Given the description of an element on the screen output the (x, y) to click on. 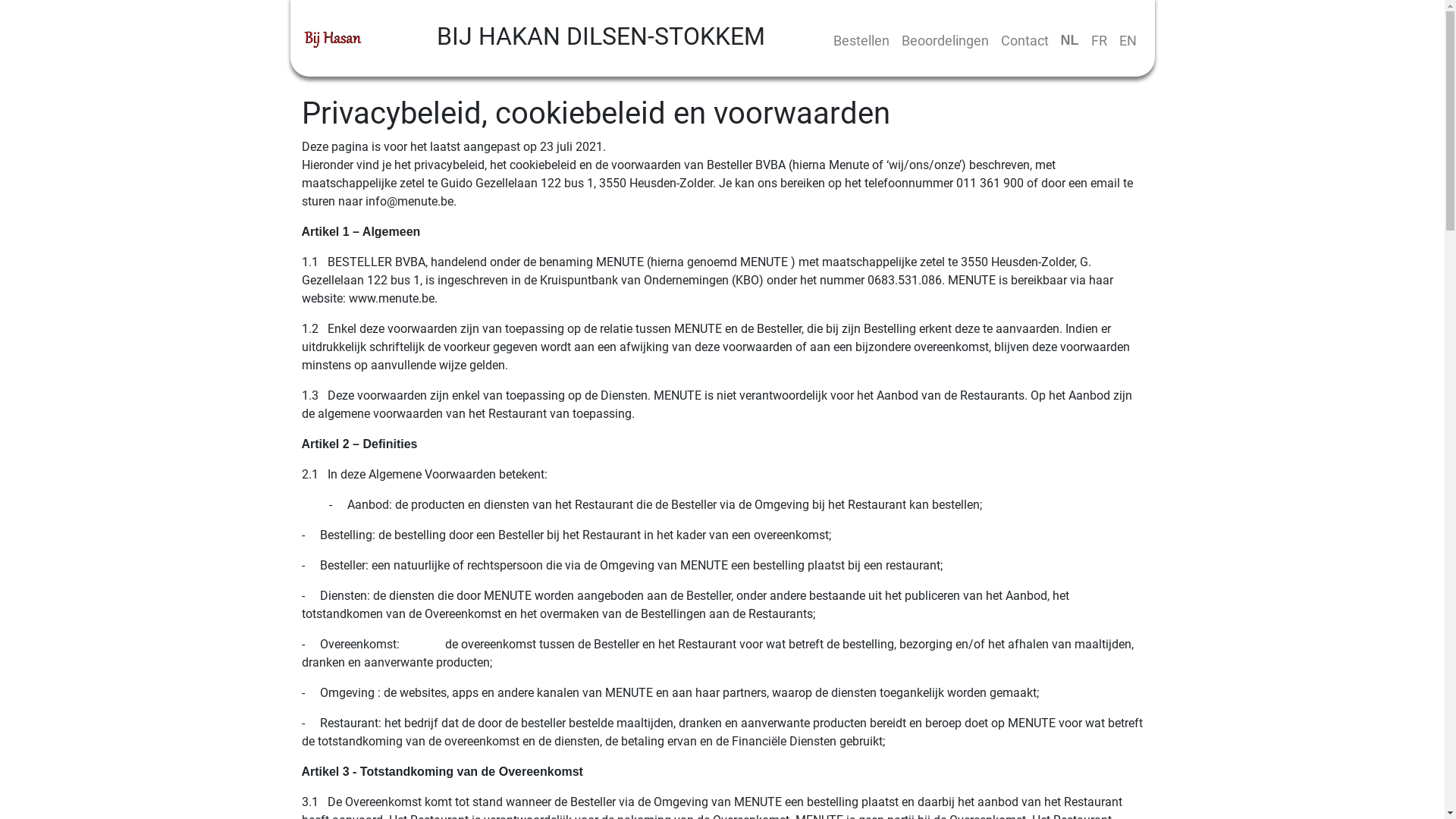
Bestellen Element type: text (860, 40)
Beoordelingen Element type: text (944, 40)
FR Element type: text (1098, 40)
EN Element type: text (1127, 40)
NL Element type: text (1069, 40)
Contact Element type: text (1024, 40)
